Given the description of an element on the screen output the (x, y) to click on. 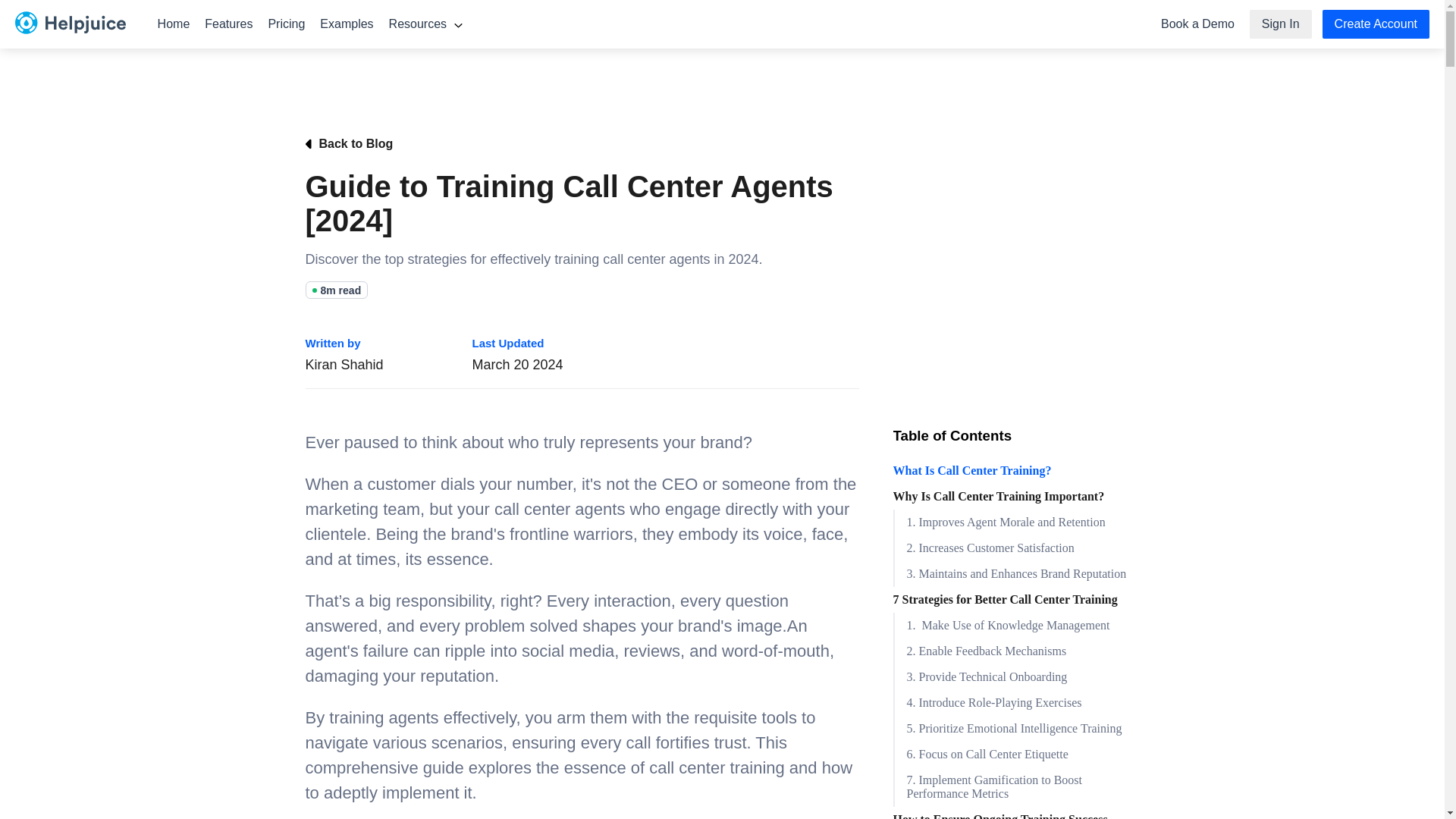
1.  Make Use of Knowledge Management (1016, 625)
Features (228, 23)
Sign In (1280, 23)
Pricing (286, 23)
Create Account (1375, 23)
4. Introduce Role-Playing Exercises (1016, 702)
Back to Blog (581, 143)
Home (173, 23)
What Is Call Center Training? (1016, 470)
Created with Sketch. (69, 22)
Why Is Call Center Training Important? (1016, 496)
Created with Sketch. (69, 33)
3. Maintains and Enhances Brand Reputation (1016, 574)
2. Enable Feedback Mechanisms (1016, 651)
Examples (346, 23)
